Given the description of an element on the screen output the (x, y) to click on. 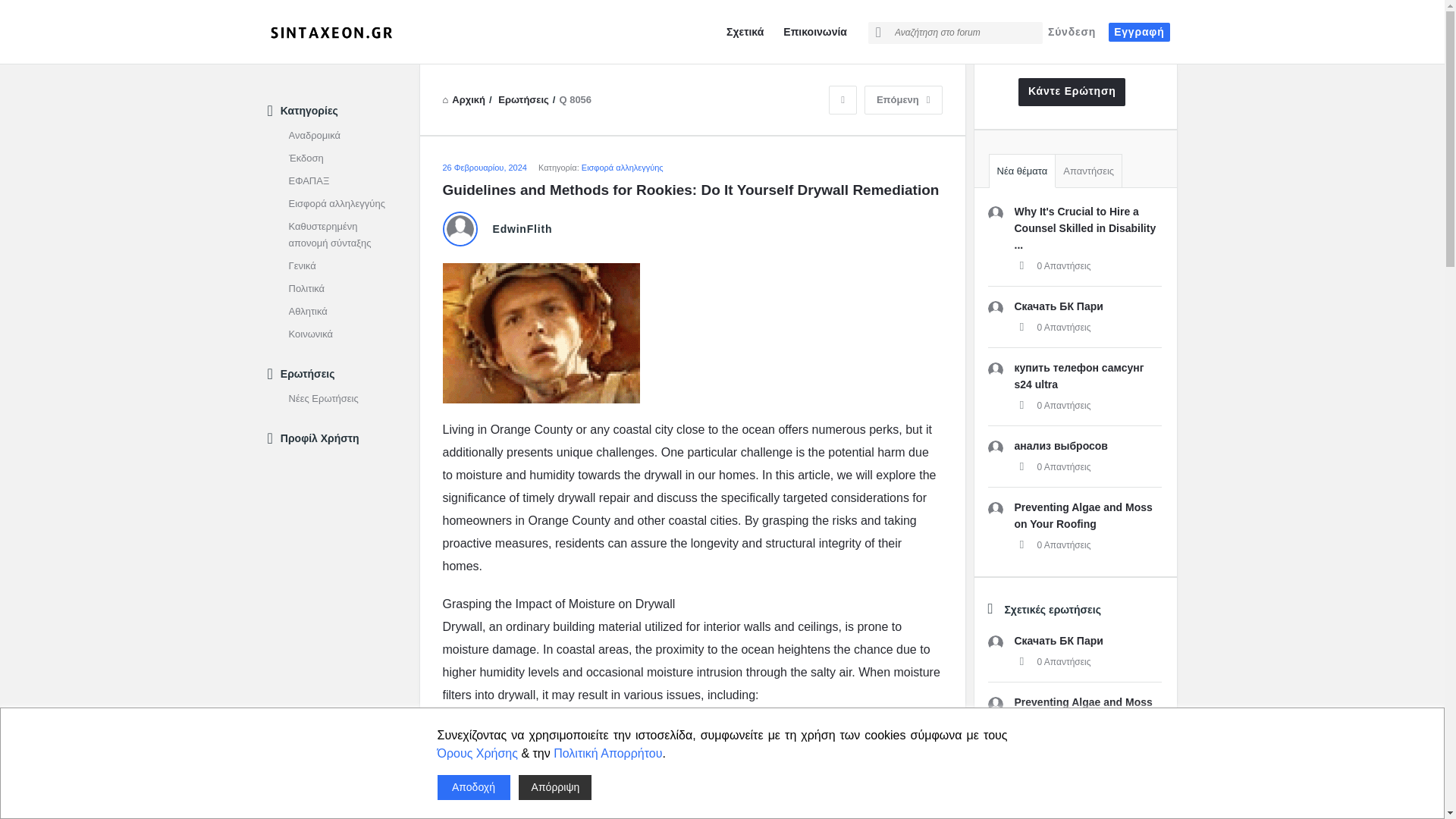
Sintaxeon.gr (342, 32)
MartinTig (995, 213)
Sintaxeon.gr (331, 32)
EdwinFlith (460, 228)
